Given the description of an element on the screen output the (x, y) to click on. 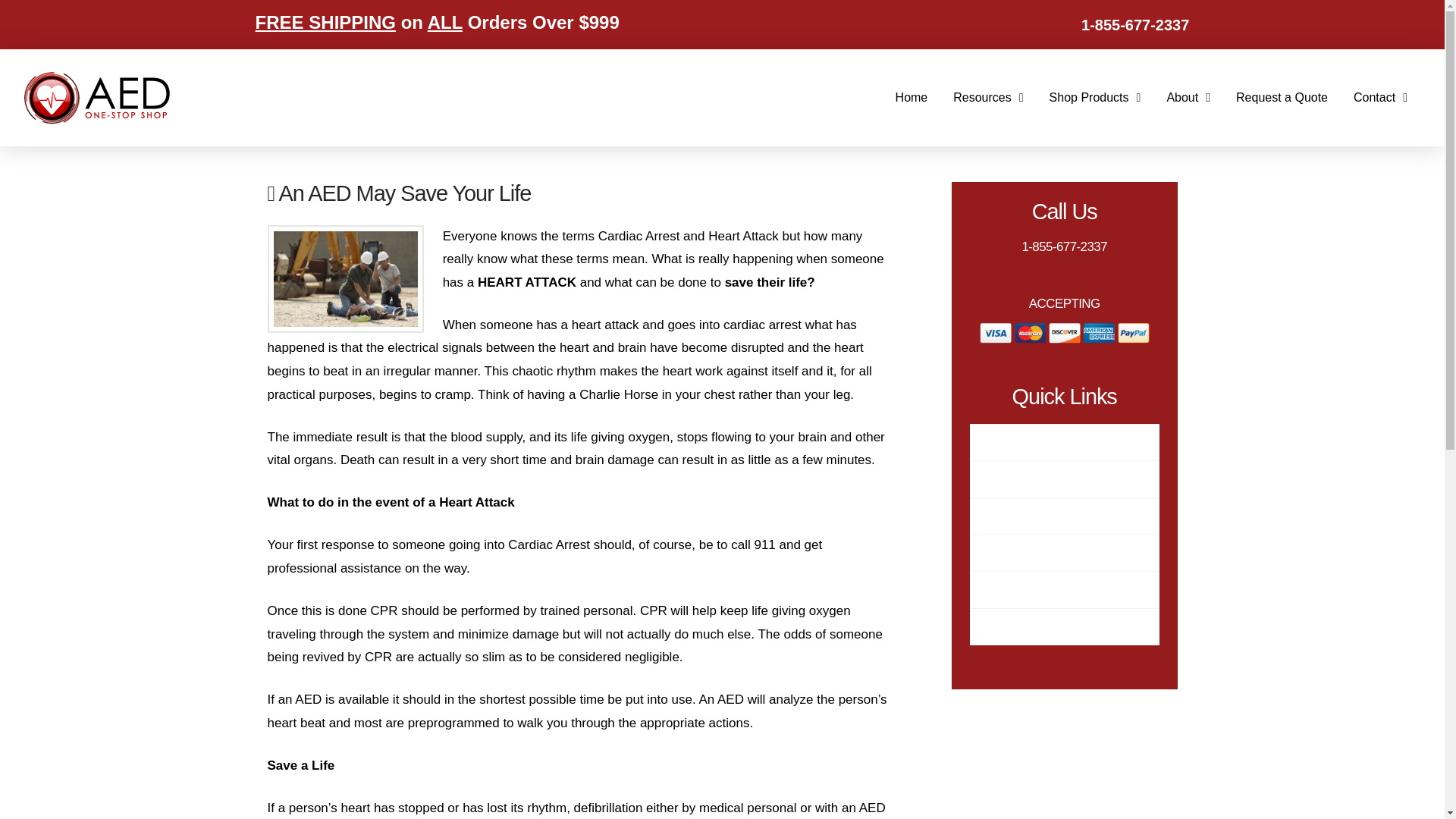
Shop Products (1095, 97)
1-855-677-2337 (1135, 23)
Resources (987, 97)
